Given the description of an element on the screen output the (x, y) to click on. 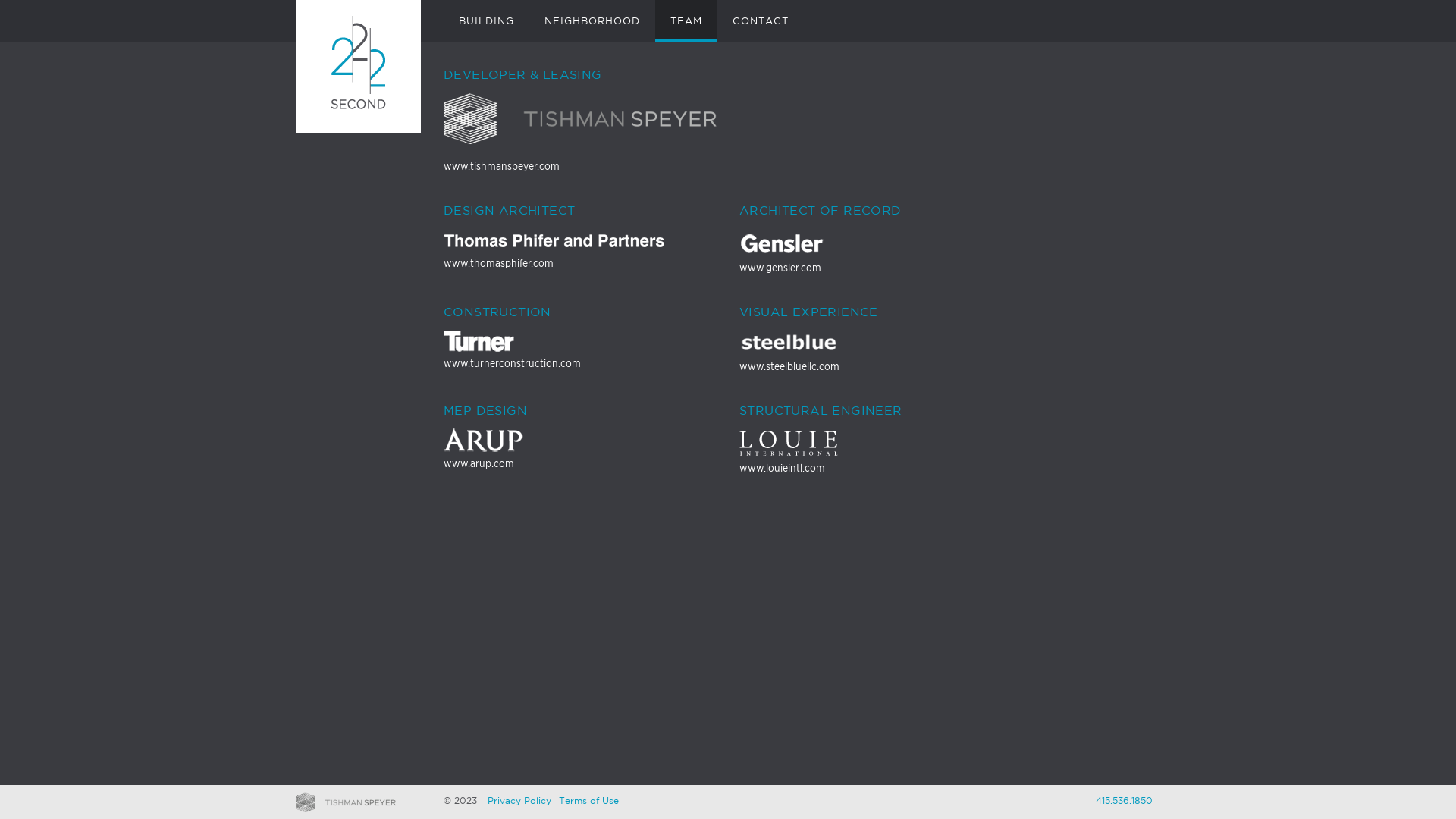
www.louieintl.com Element type: text (875, 450)
www.steelbluellc.com Element type: text (875, 351)
CONTACT Element type: text (760, 20)
www.thomasphifer.com Element type: text (579, 249)
www.arup.com Element type: text (579, 448)
NEIGHBORHOOD Element type: text (592, 20)
www.tishmanspeyer.com Element type: text (579, 132)
BUILDING Element type: text (486, 20)
TEAM Element type: text (686, 20)
www.turnerconstruction.com Element type: text (579, 349)
Terms of Use Element type: text (588, 800)
415.536.1850 Element type: text (1123, 800)
www.gensler.com Element type: text (875, 251)
Privacy Policy Element type: text (519, 800)
